Given the description of an element on the screen output the (x, y) to click on. 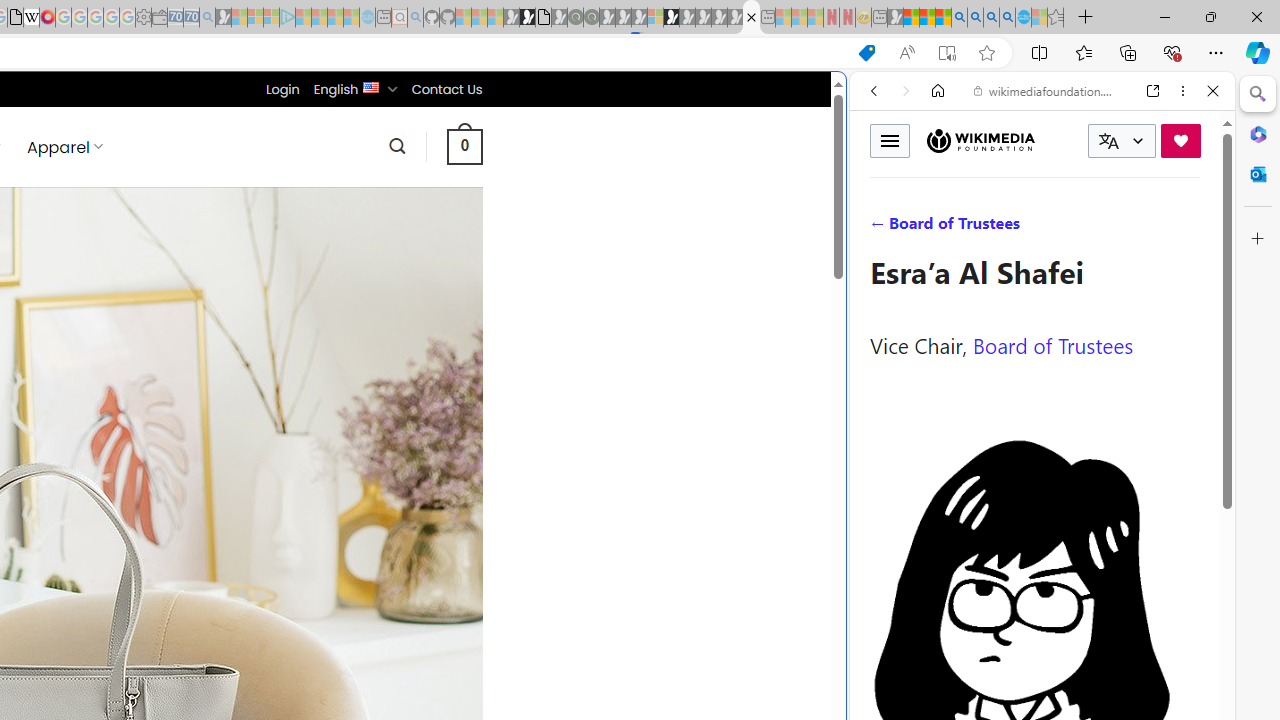
Bing AI - Search (959, 17)
github - Search - Sleeping (415, 17)
CURRENT LANGUAGE: (1121, 141)
